Given the description of an element on the screen output the (x, y) to click on. 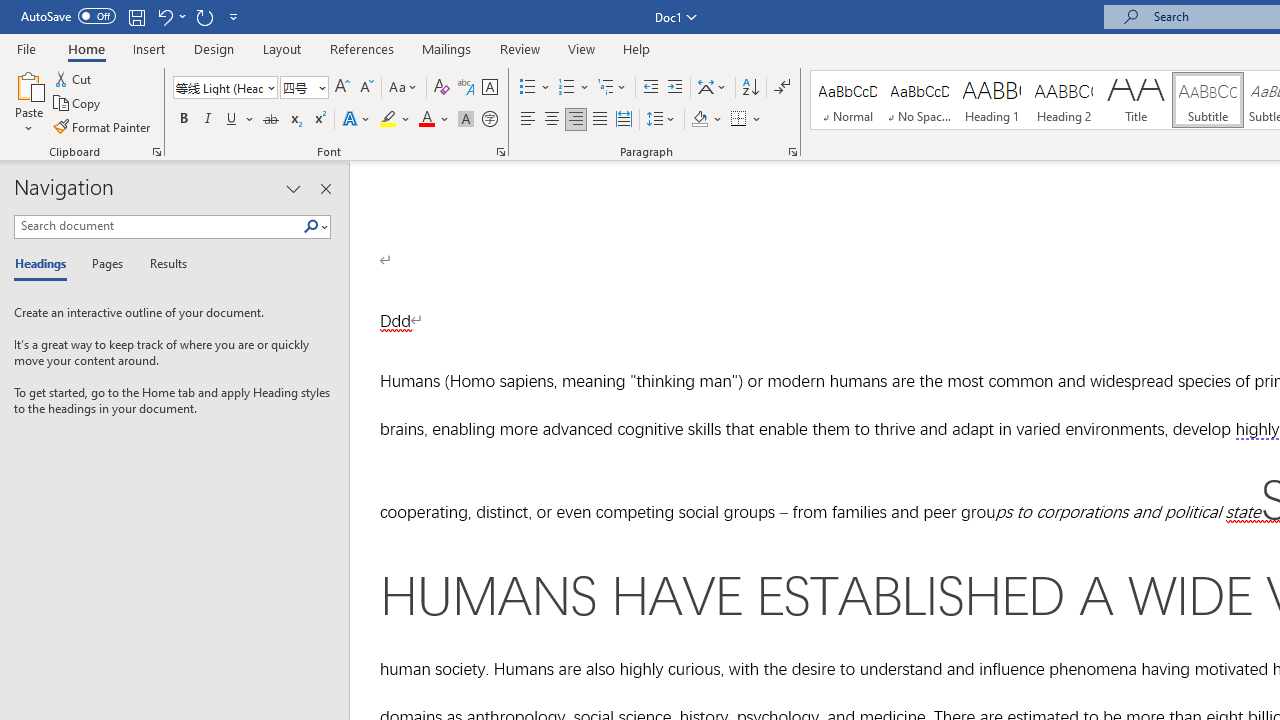
Distributed (623, 119)
Subtitle (1208, 100)
Align Right (575, 119)
Phonetic Guide... (465, 87)
Multilevel List (613, 87)
Paragraph... (792, 151)
Center (552, 119)
